Given the description of an element on the screen output the (x, y) to click on. 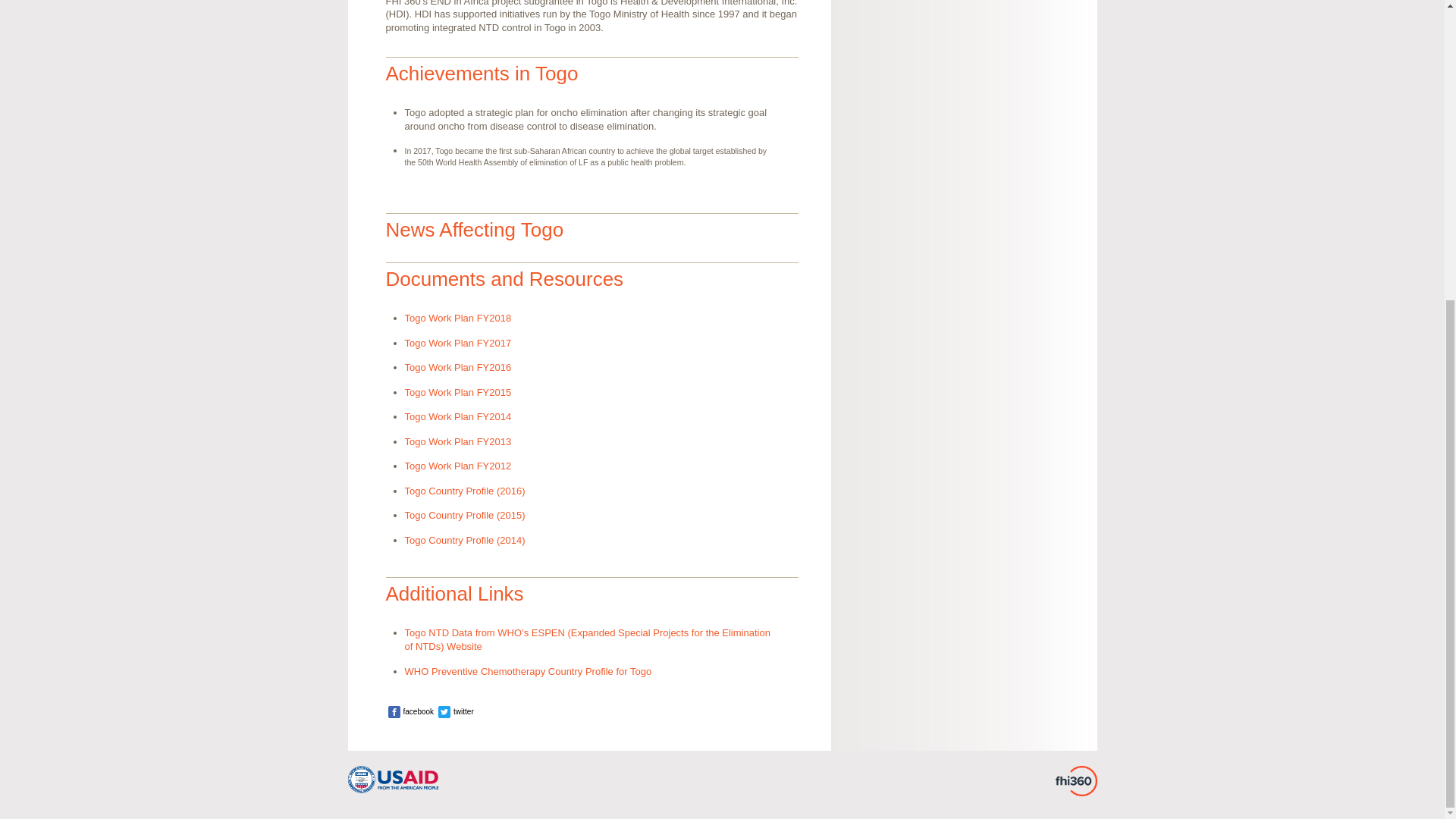
WHO Preventive Chemotherapy Country Profile for Togo (528, 671)
Togo Work Plan FY2018 (458, 317)
News Affecting Togo (474, 229)
Togo Work Plan FY2017 (458, 342)
